Given the description of an element on the screen output the (x, y) to click on. 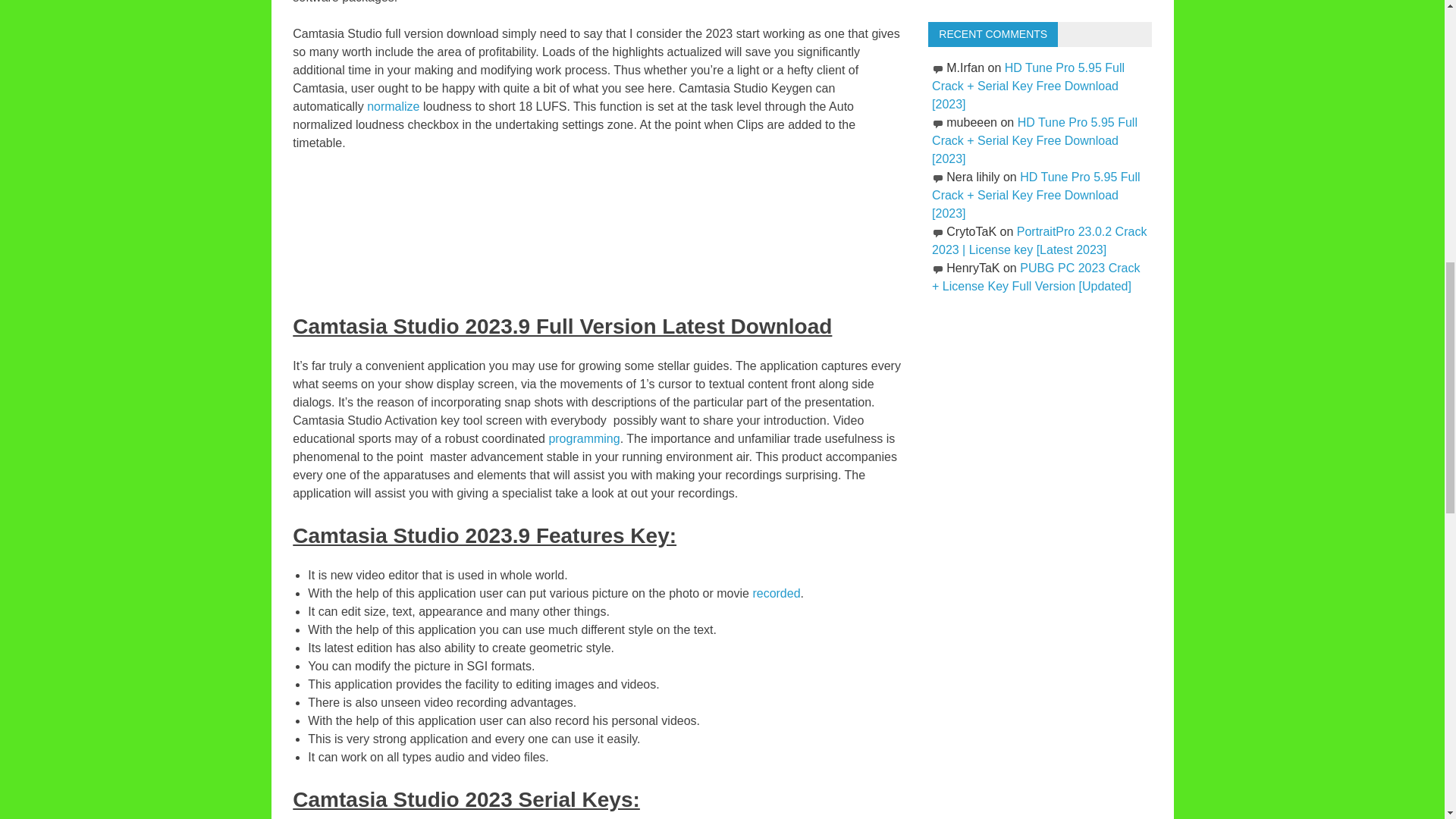
programming (584, 438)
recorded (775, 593)
normalize (394, 106)
